Given the description of an element on the screen output the (x, y) to click on. 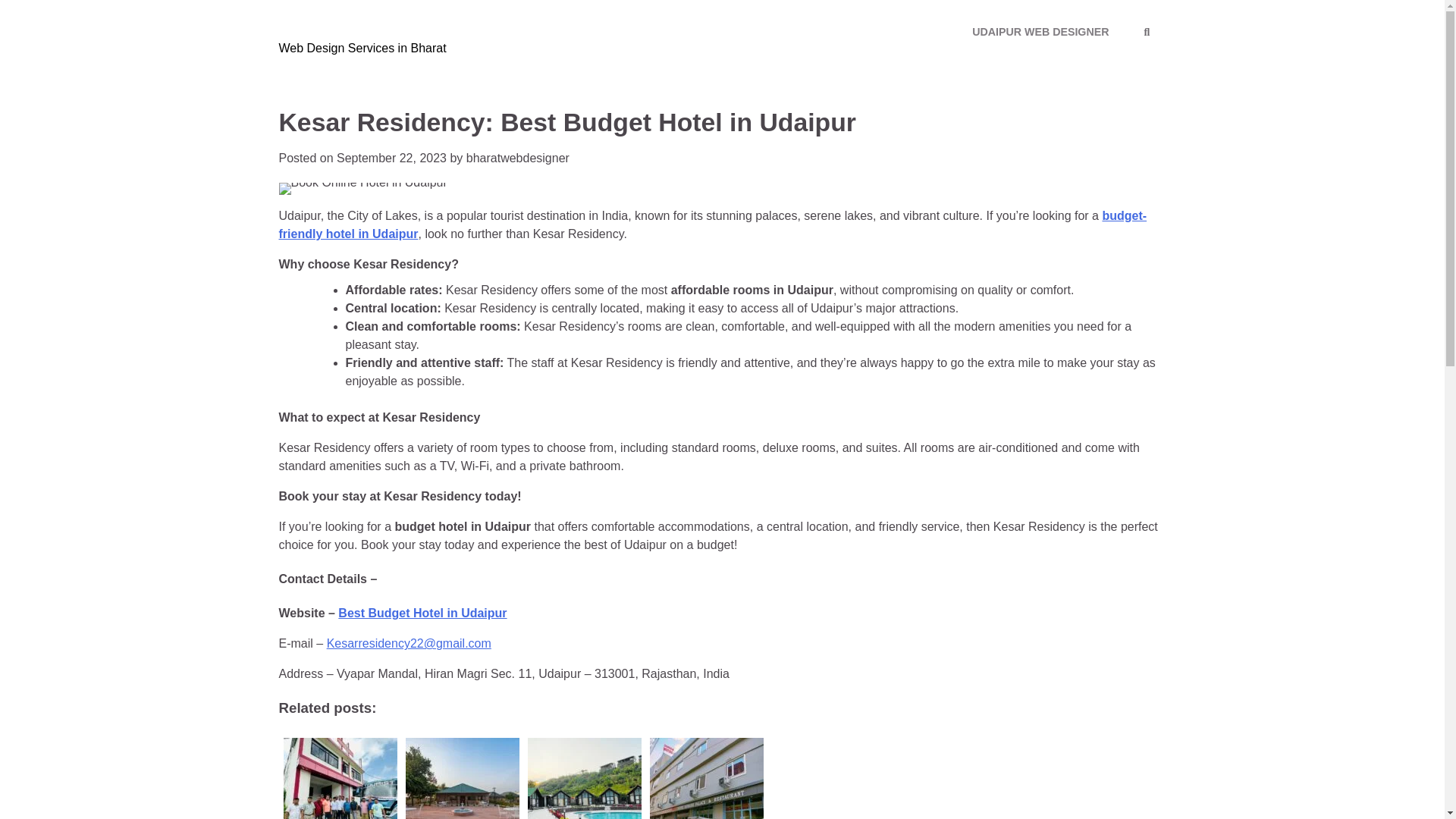
bharatwebdesigner (517, 157)
UDAIPUR WEB DESIGNER (340, 776)
budget-friendly hotel in Udaipur (1039, 32)
Search (713, 224)
September 22, 2023 (1146, 32)
Search (391, 157)
Best Budget Hotel in Udaipur (1118, 71)
